Given the description of an element on the screen output the (x, y) to click on. 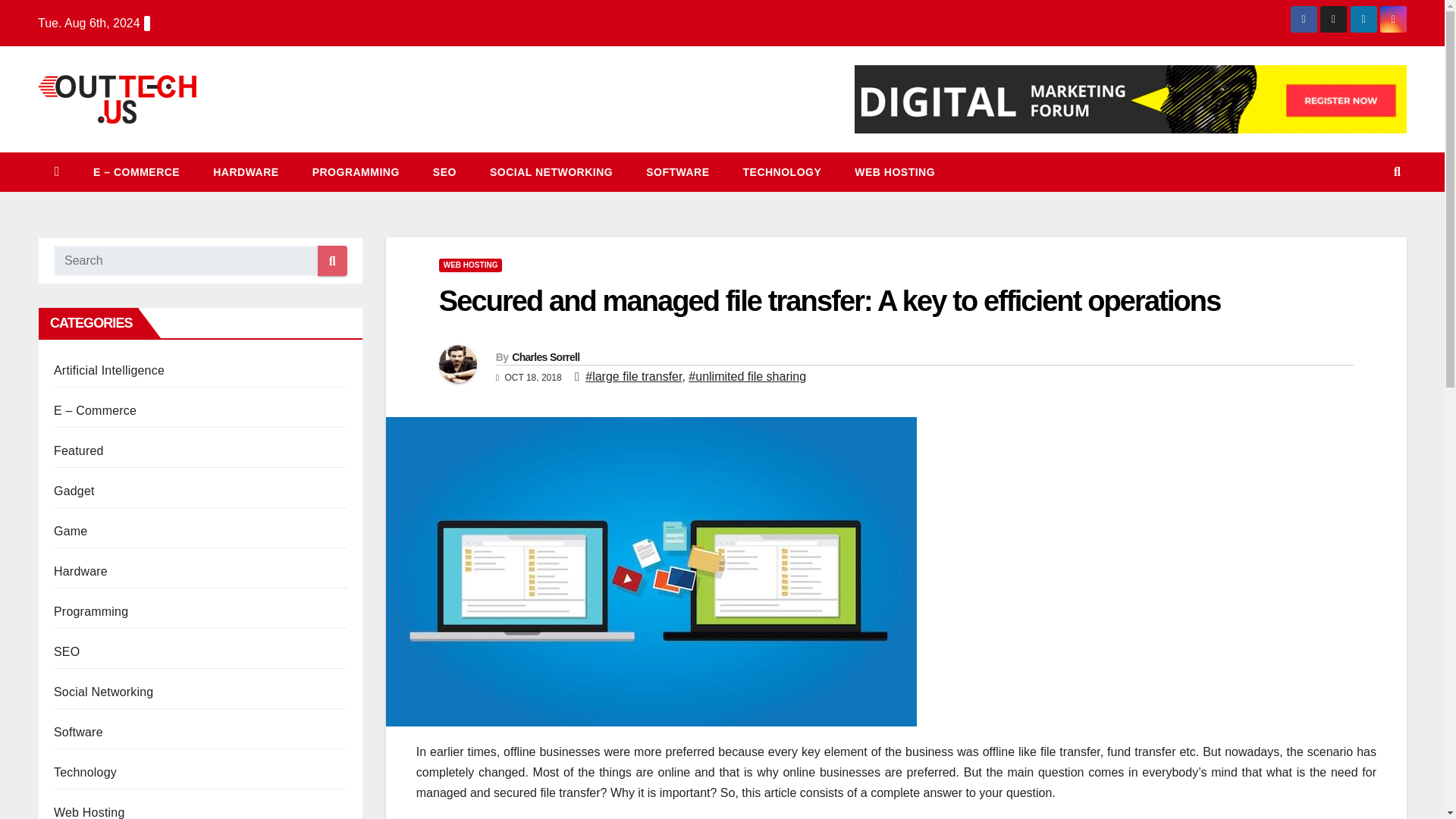
SEO (66, 651)
Gadget (73, 490)
SOFTWARE (676, 171)
Programming (355, 171)
Web Hosting (895, 171)
Artificial Intelligence (108, 369)
E - Commerce (136, 171)
HARDWARE (245, 171)
Technology (84, 771)
WEB HOSTING (470, 264)
PROGRAMMING (355, 171)
Technology (782, 171)
SOCIAL NETWORKING (550, 171)
Charles Sorrell (545, 357)
